Given the description of an element on the screen output the (x, y) to click on. 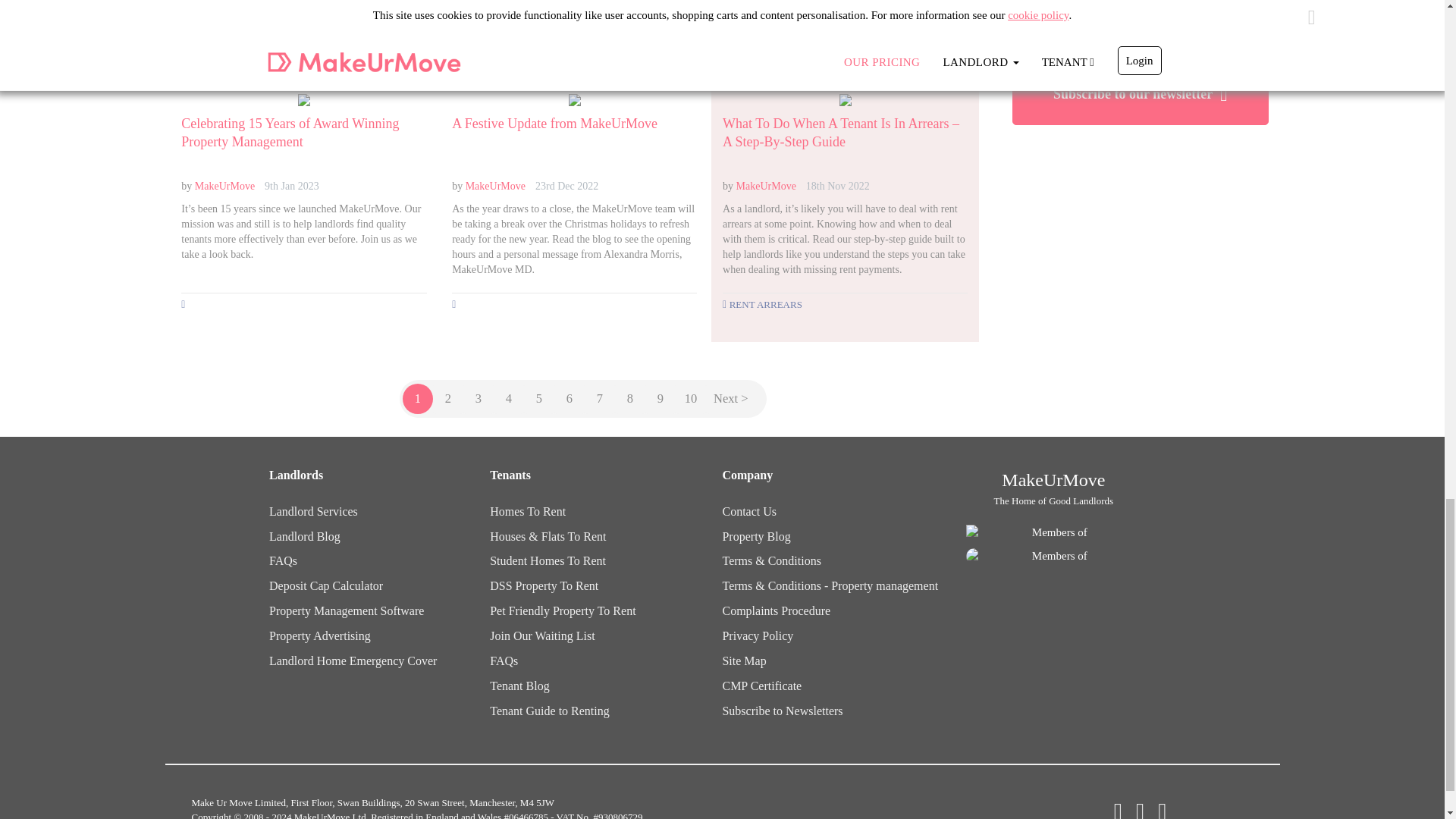
Propertymark Client Money Protection Certificate (762, 685)
Members of (1053, 532)
Complaints Procedure (775, 610)
Members of (1053, 555)
